Given the description of an element on the screen output the (x, y) to click on. 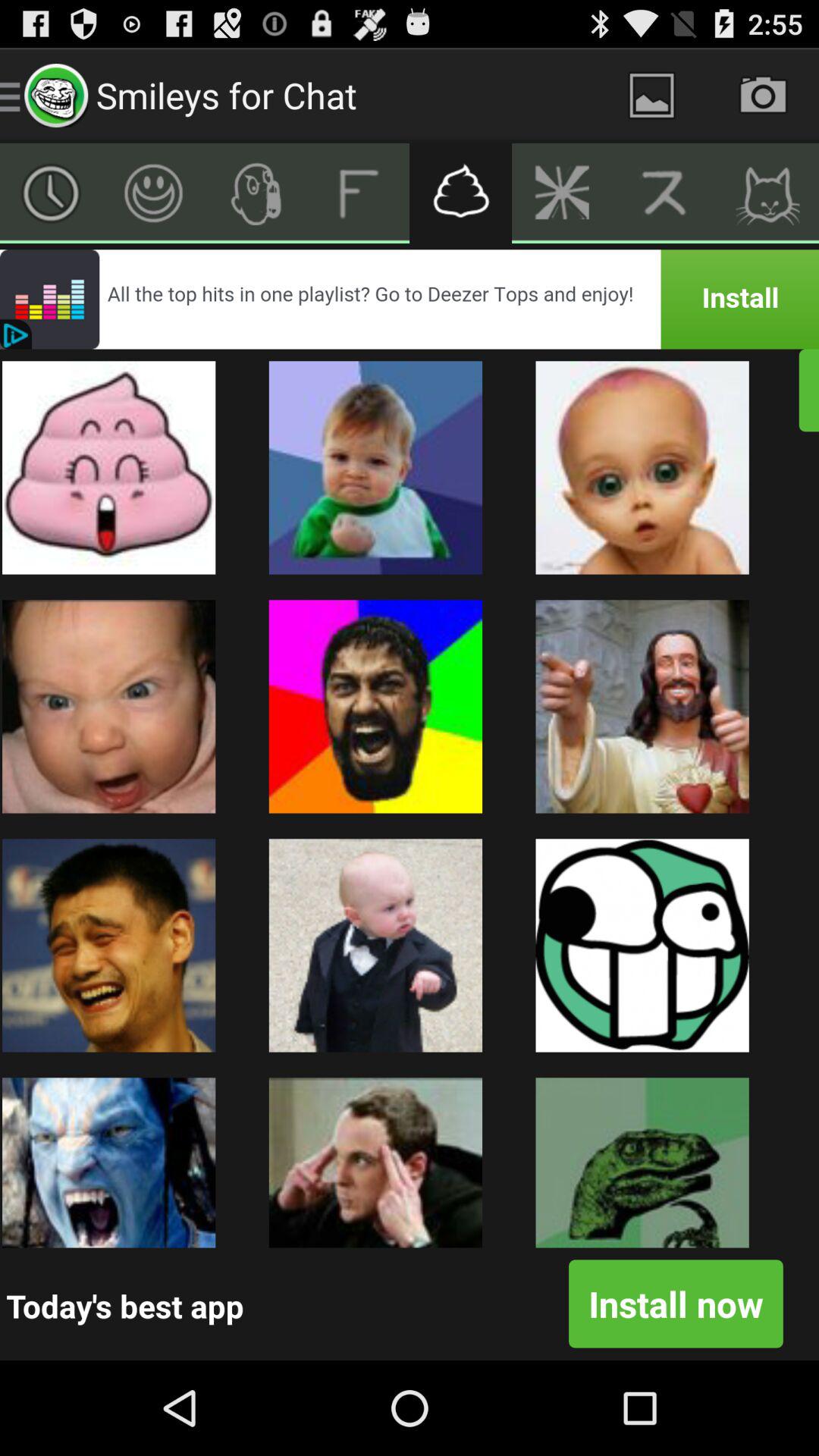
take picture (763, 95)
